Given the description of an element on the screen output the (x, y) to click on. 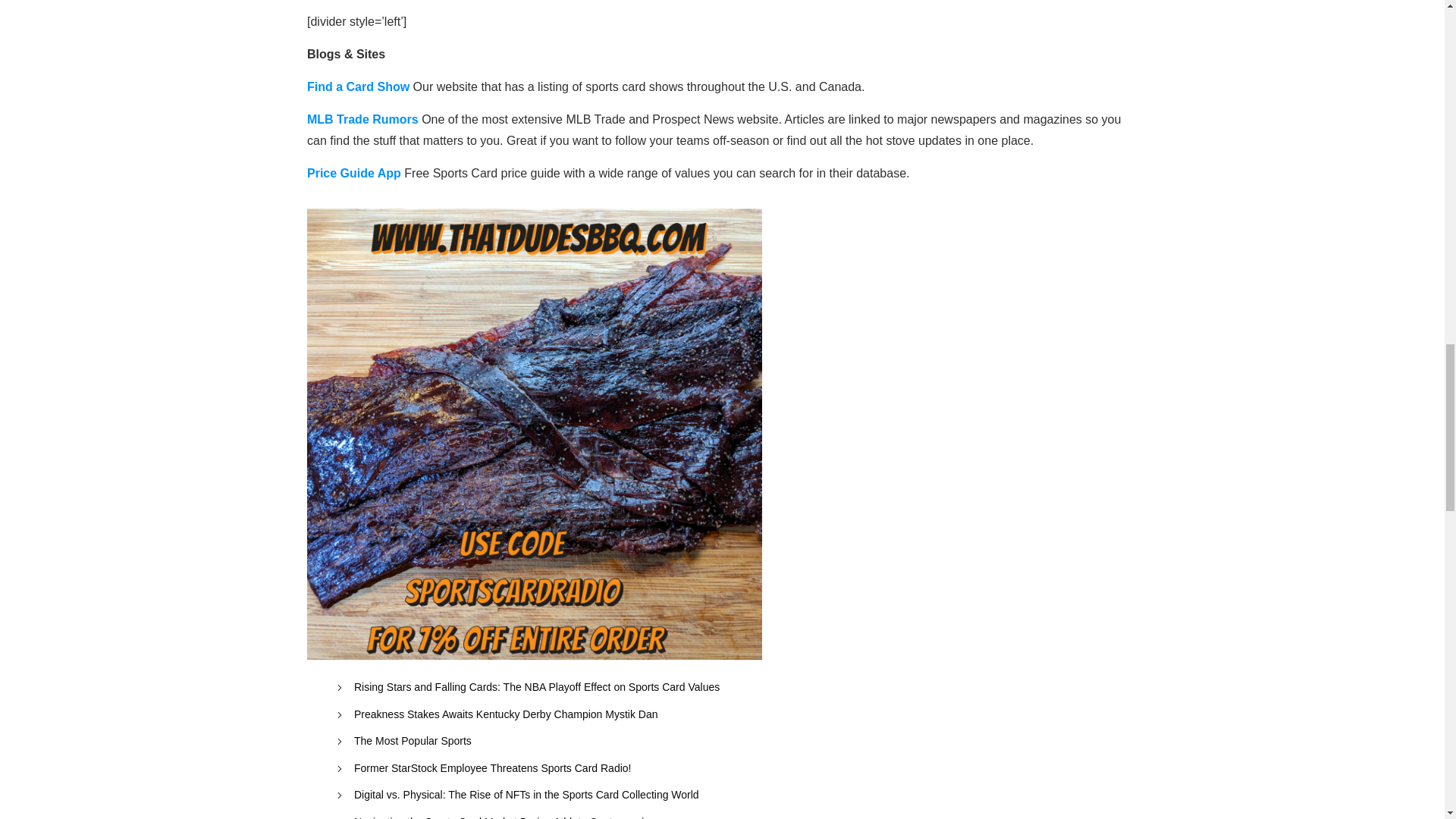
Price Guide App (354, 173)
Former StarStock Employee Threatens Sports Card Radio! (491, 768)
Find a Card Show (358, 86)
Preakness Stakes Awaits Kentucky Derby Champion Mystik Dan (505, 714)
The Most Popular Sports (412, 741)
MLB Trade Rumors (363, 119)
